Given the description of an element on the screen output the (x, y) to click on. 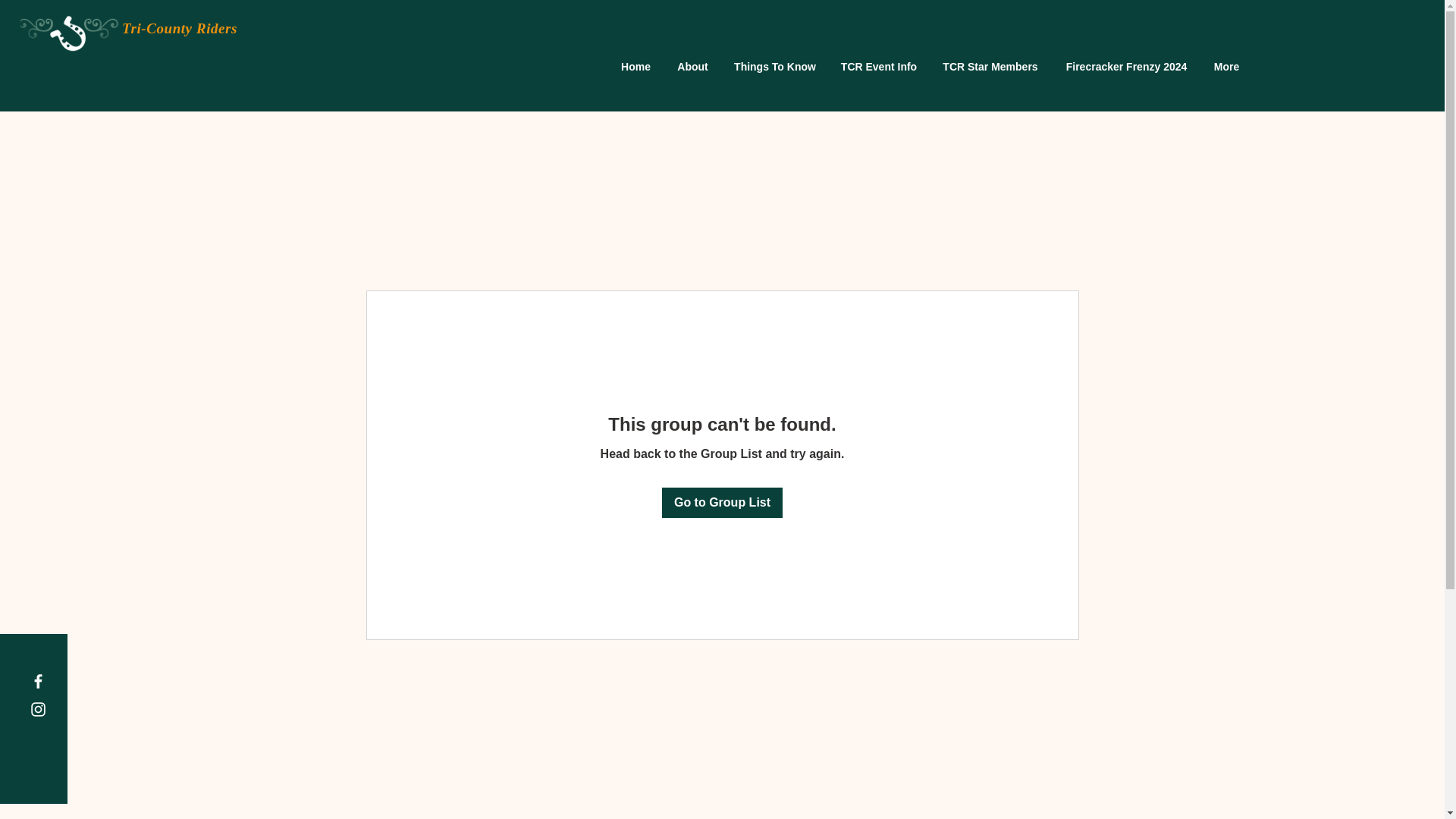
About (691, 66)
Go to Group List (722, 502)
TCR Event Info (878, 66)
Firecracker Frenzy 2024 (1126, 66)
Things To Know (774, 66)
Tri-County Riders (179, 28)
TCR Star Members (989, 66)
Home (635, 66)
